Given the description of an element on the screen output the (x, y) to click on. 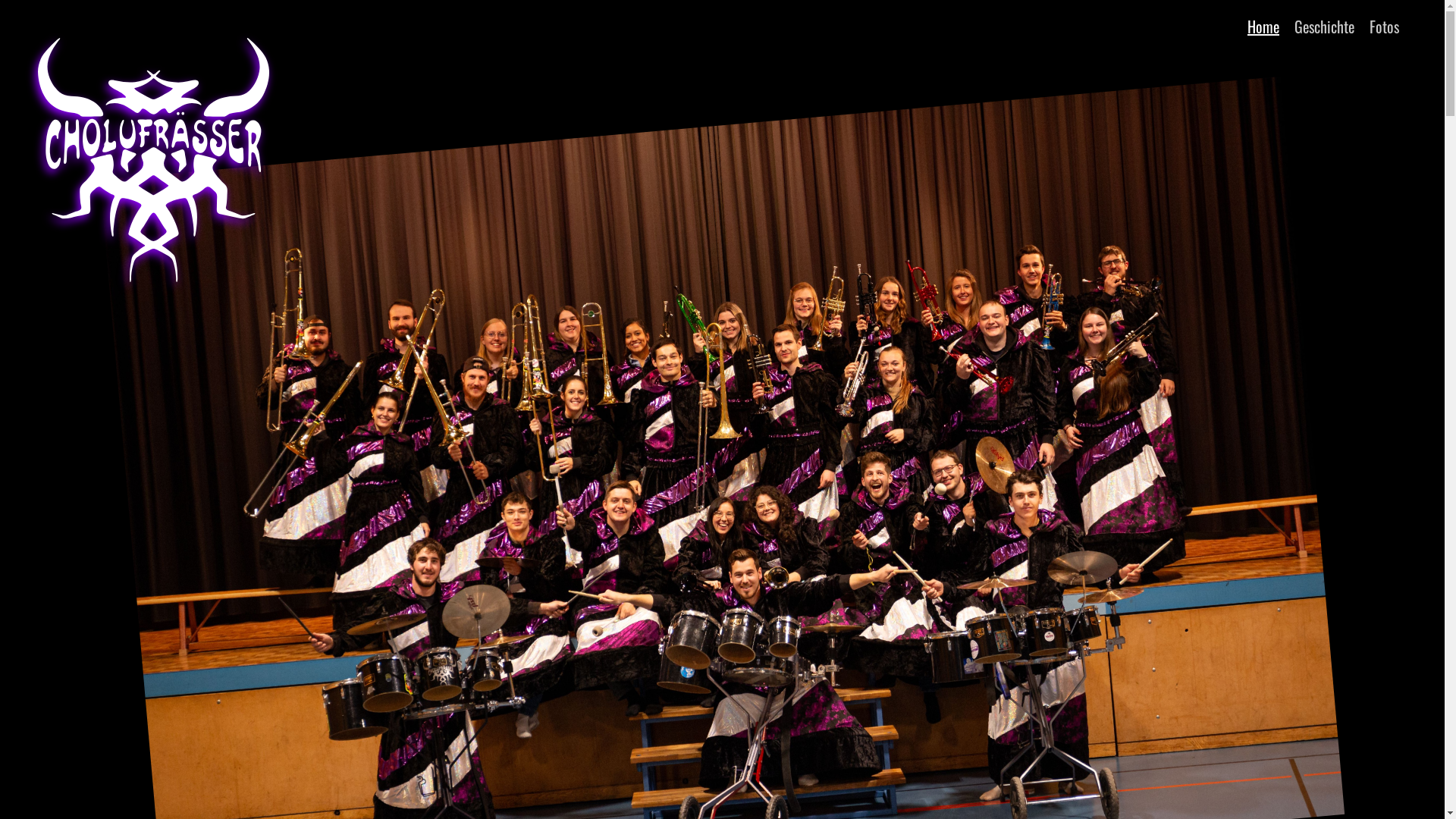
Geschichte Element type: text (1324, 26)
Home Element type: text (1263, 26)
Fotos Element type: text (1384, 26)
